Given the description of an element on the screen output the (x, y) to click on. 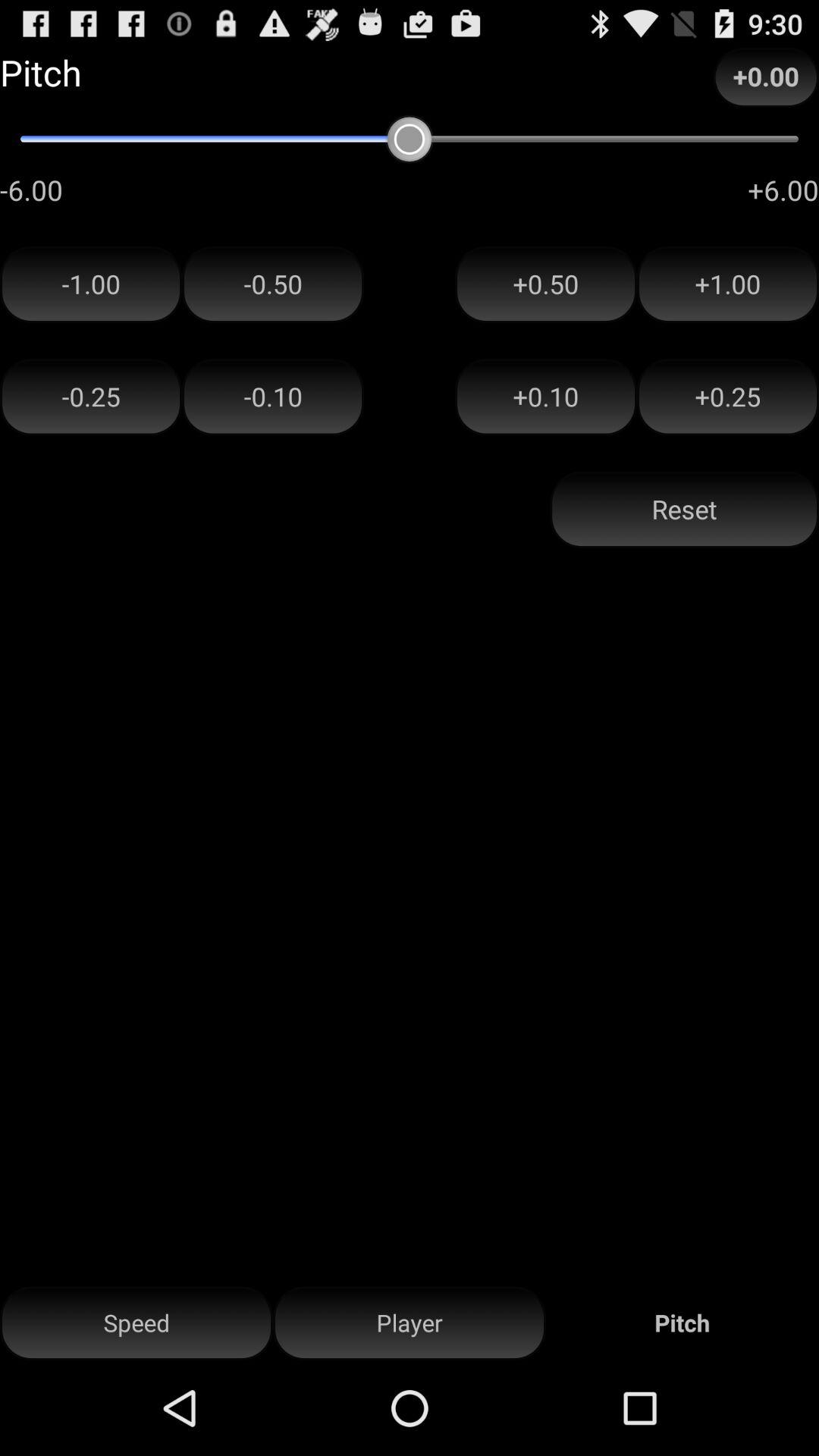
click button at the bottom (409, 1323)
